Given the description of an element on the screen output the (x, y) to click on. 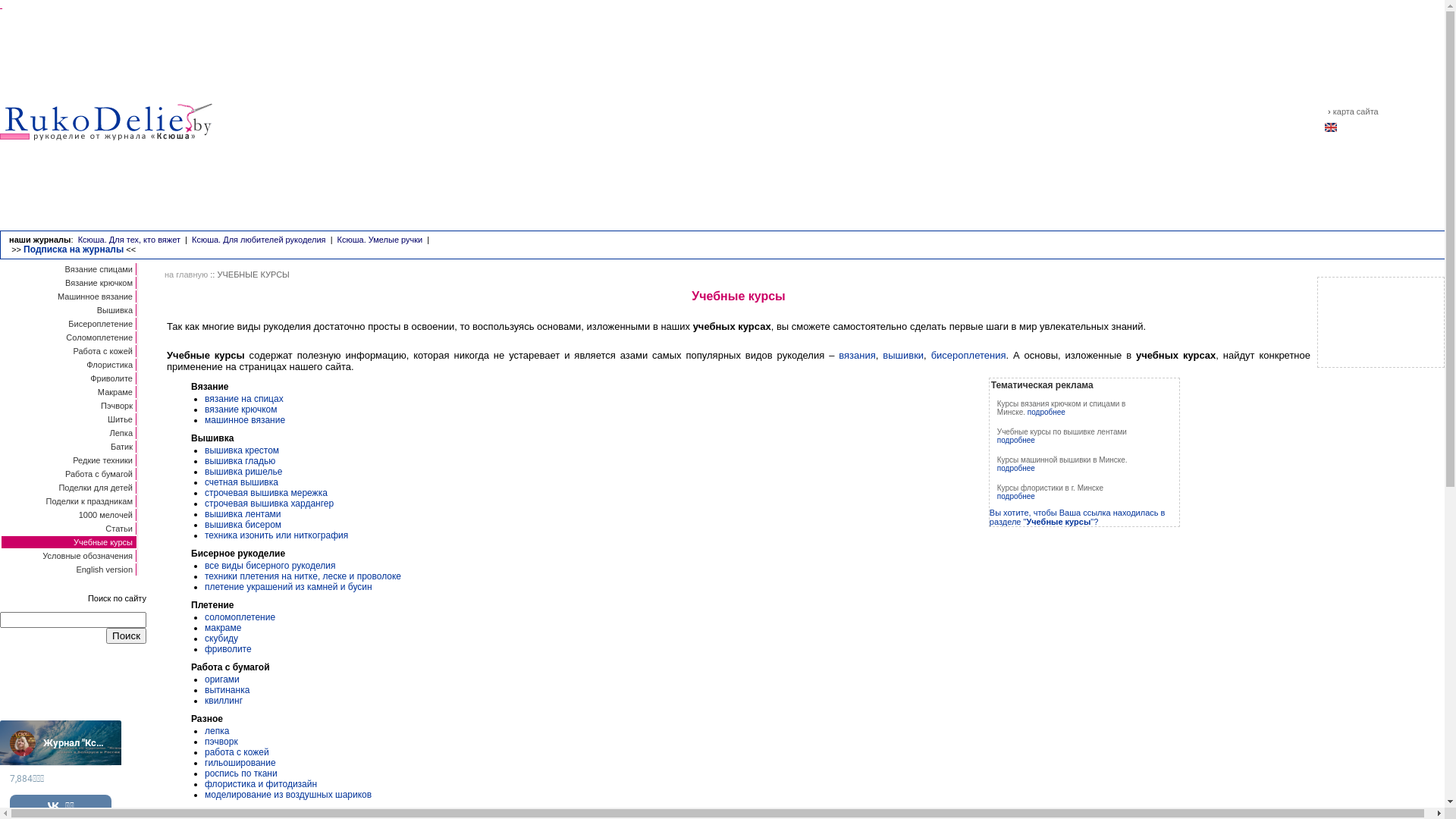
english Element type: hover (1330, 132)
  Element type: text (1, 4)
Advertisement Element type: hover (770, 124)
Advertisement Element type: hover (1380, 322)
